Given the description of an element on the screen output the (x, y) to click on. 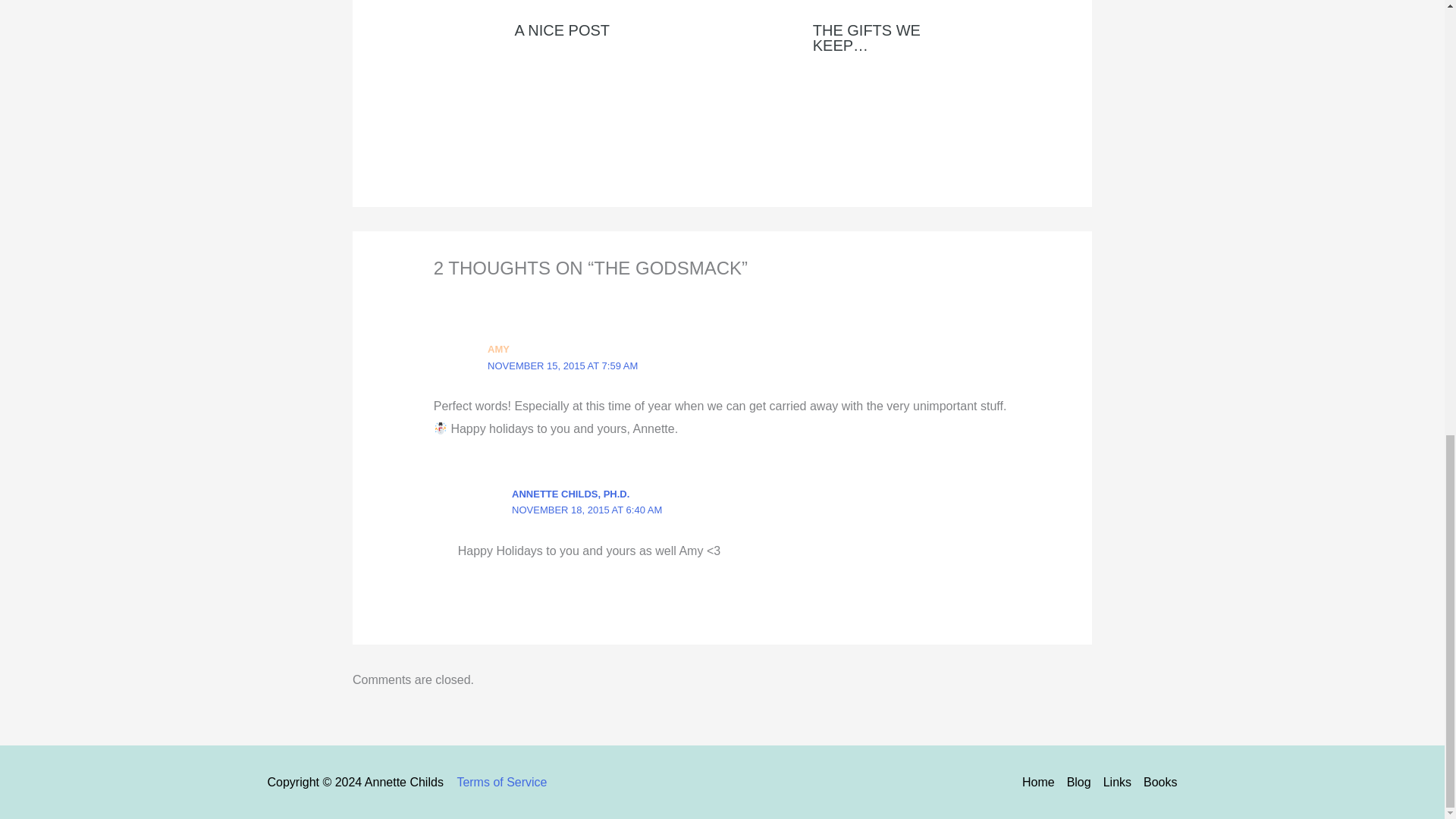
NOVEMBER 15, 2015 AT 7:59 AM (562, 365)
NOVEMBER 18, 2015 AT 6:40 AM (587, 509)
Links (1117, 782)
Books (1156, 782)
ANNETTE CHILDS, PH.D. (570, 493)
A NICE POST (561, 30)
Terms of Service (502, 781)
Home (1041, 782)
Blog (1079, 782)
